Given the description of an element on the screen output the (x, y) to click on. 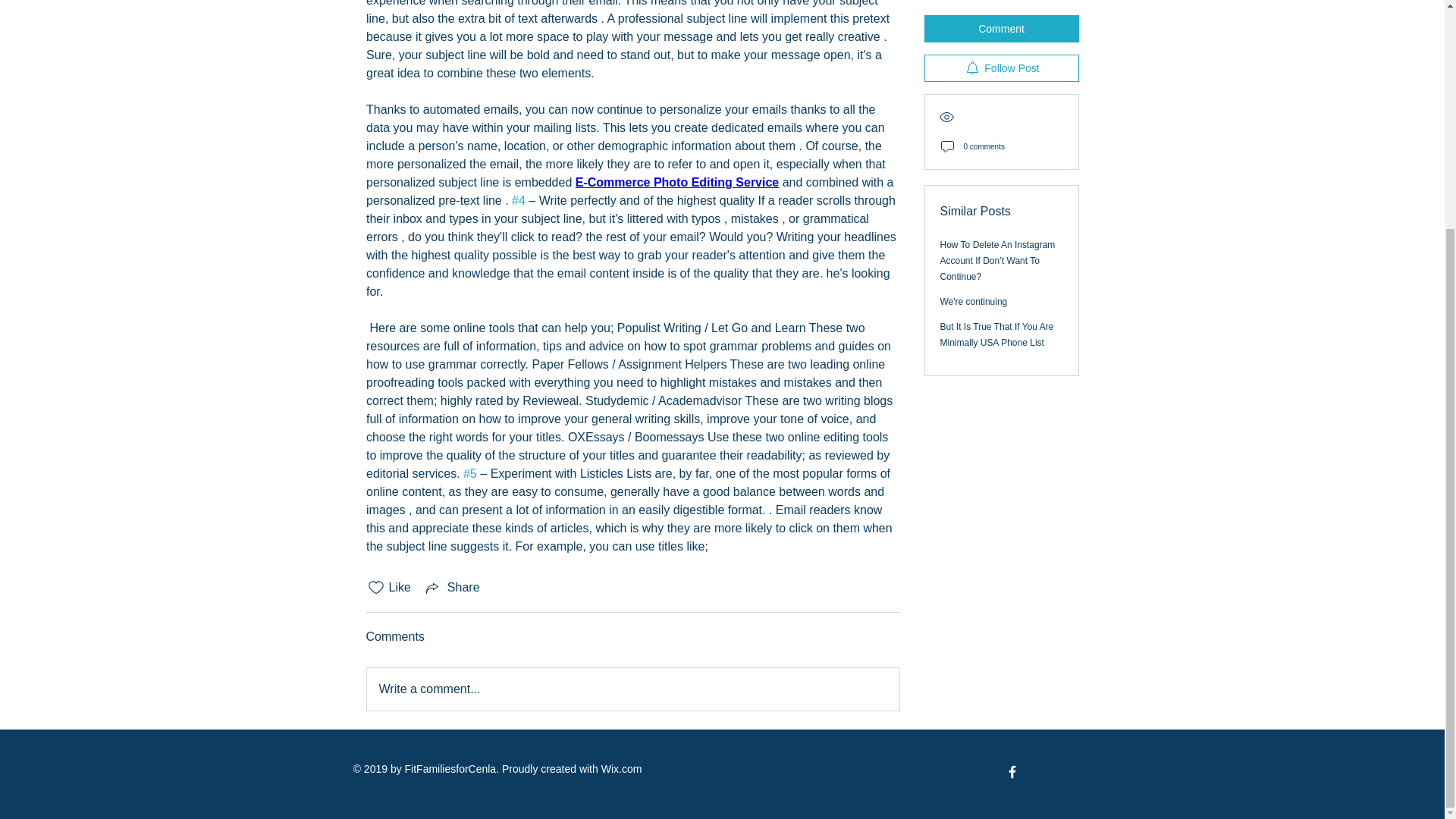
We're continuing (973, 153)
But It Is True That If You Are Minimally USA Phone List (997, 186)
Write a comment... (632, 689)
Wix.com (621, 768)
Share (451, 587)
E-Commerce Photo Editing Service (676, 182)
